Given the description of an element on the screen output the (x, y) to click on. 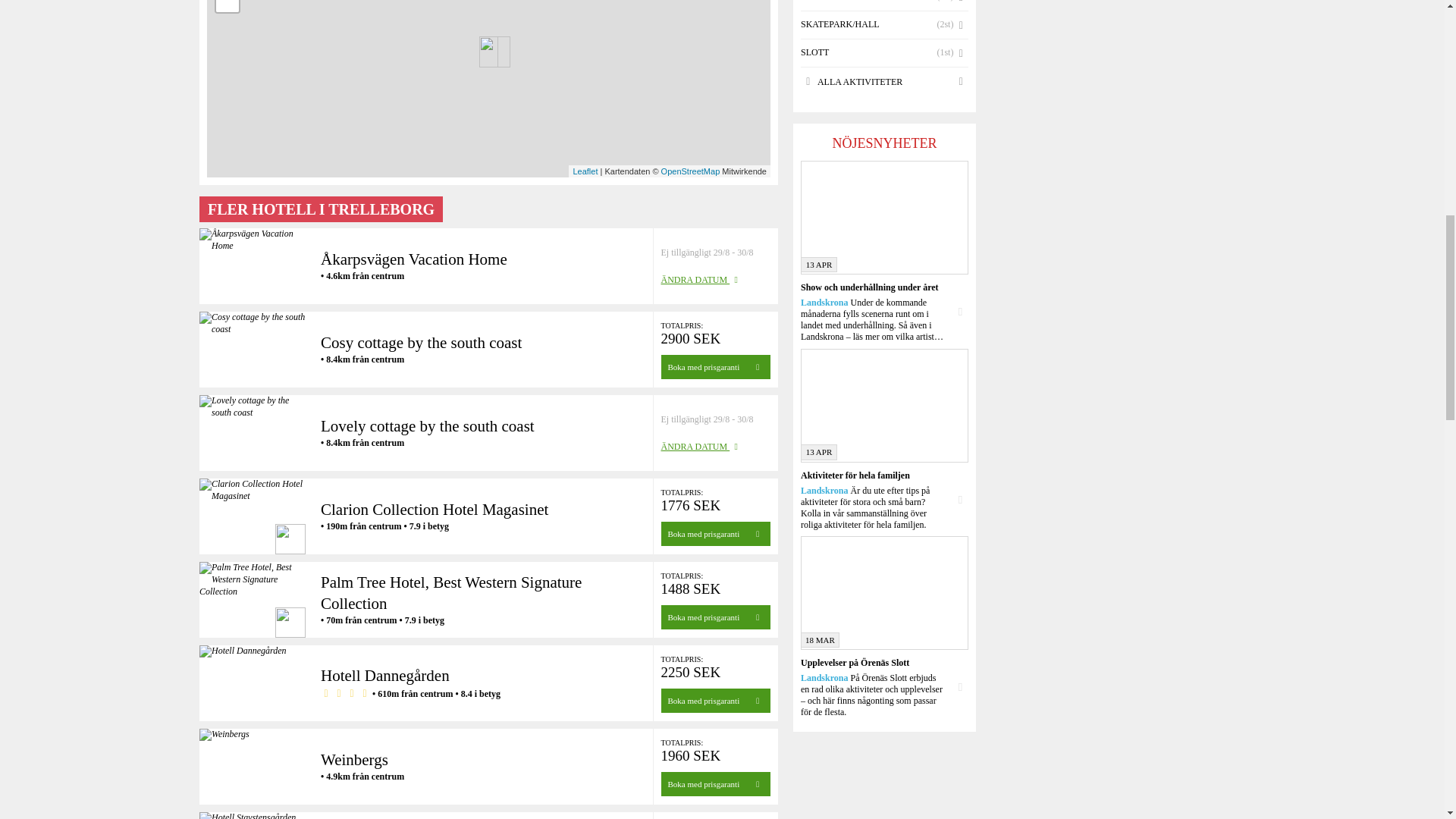
Leaflet (584, 171)
Cosy cottage by the south coast (420, 344)
A JS library for interactive maps (584, 171)
OpenStreetMap (690, 171)
Zoom out (226, 6)
